Given the description of an element on the screen output the (x, y) to click on. 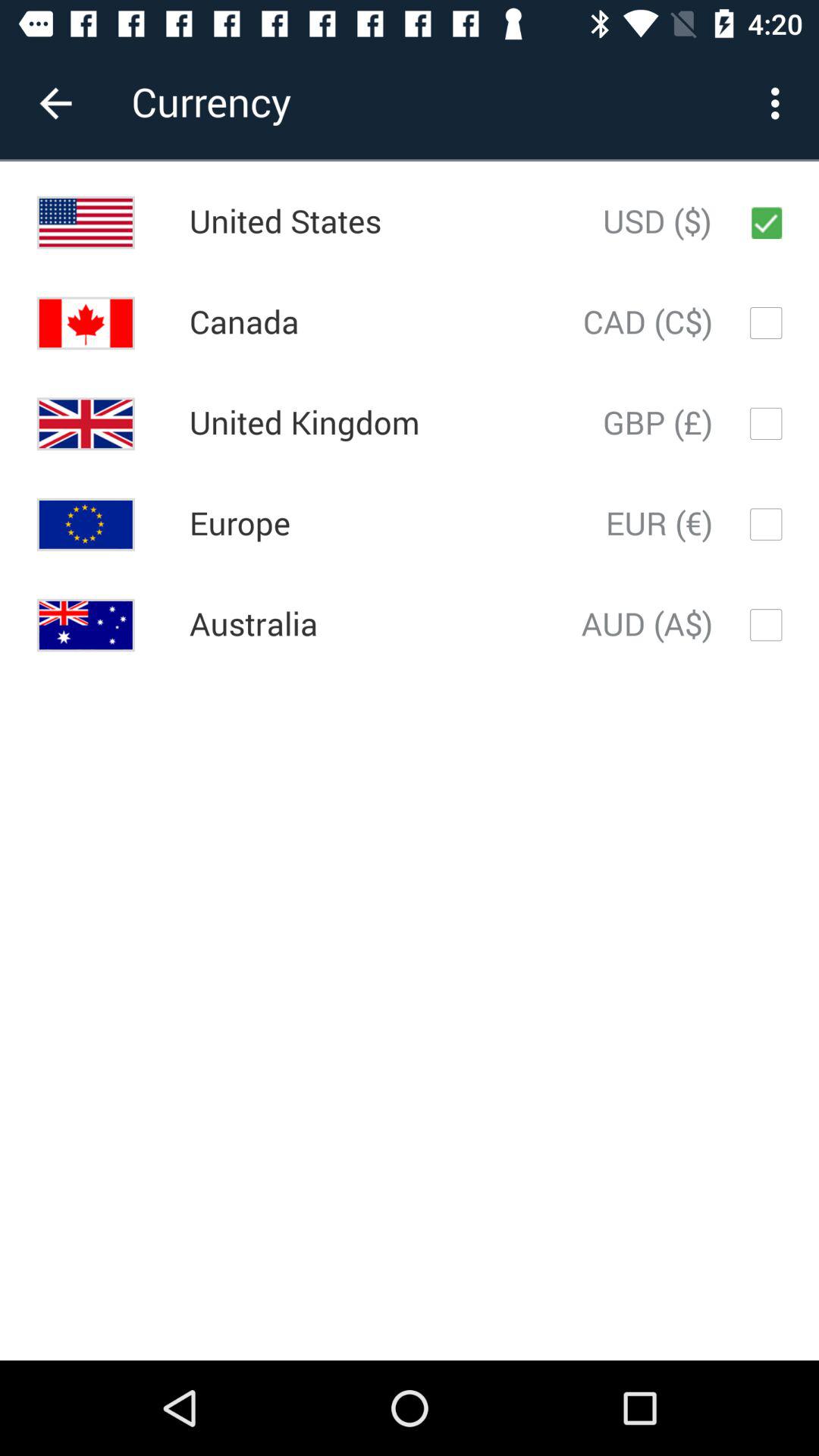
jump until the aud (a$) (647, 624)
